Given the description of an element on the screen output the (x, y) to click on. 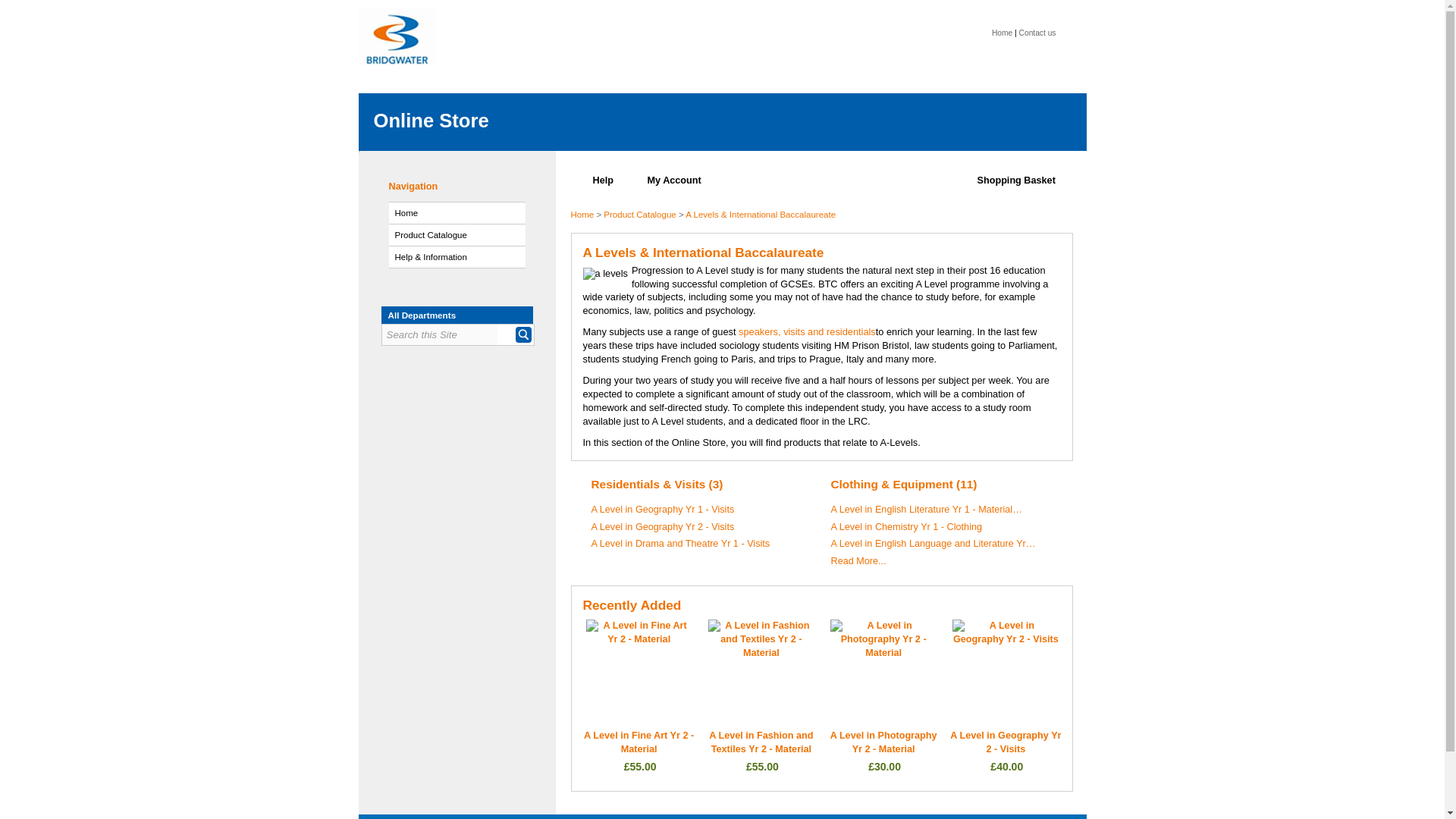
Search this Site (439, 334)
a levels (604, 273)
Home (1001, 32)
Product Catalogue (456, 234)
Home (456, 212)
Contact us (1038, 32)
Go back to BTC home page (396, 87)
Search this Site (439, 334)
